Given the description of an element on the screen output the (x, y) to click on. 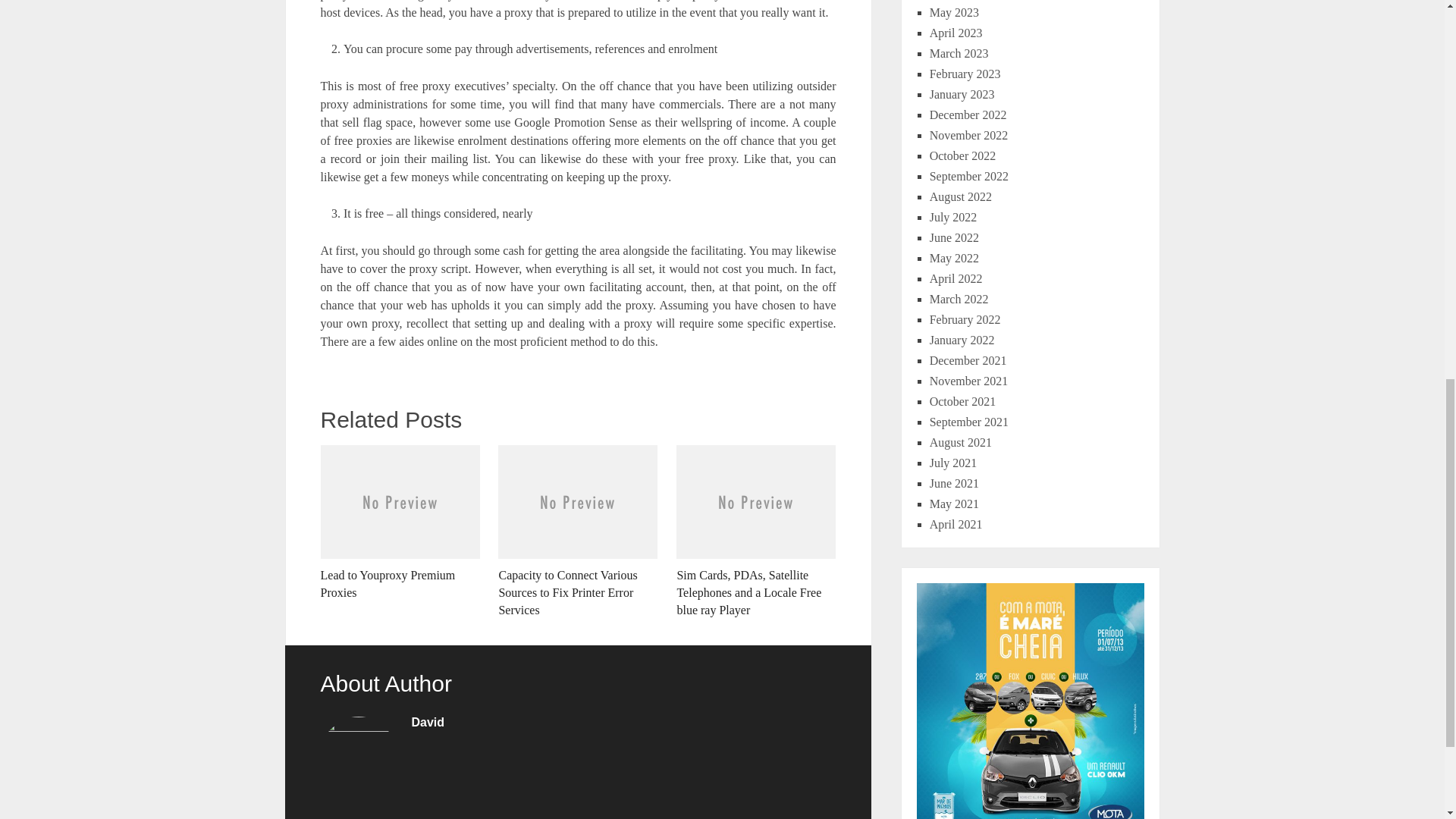
May 2023 (954, 11)
April 2023 (956, 32)
Lead to Youproxy Premium Proxies (399, 523)
Lead to Youproxy Premium Proxies (399, 523)
March 2023 (959, 52)
